Given the description of an element on the screen output the (x, y) to click on. 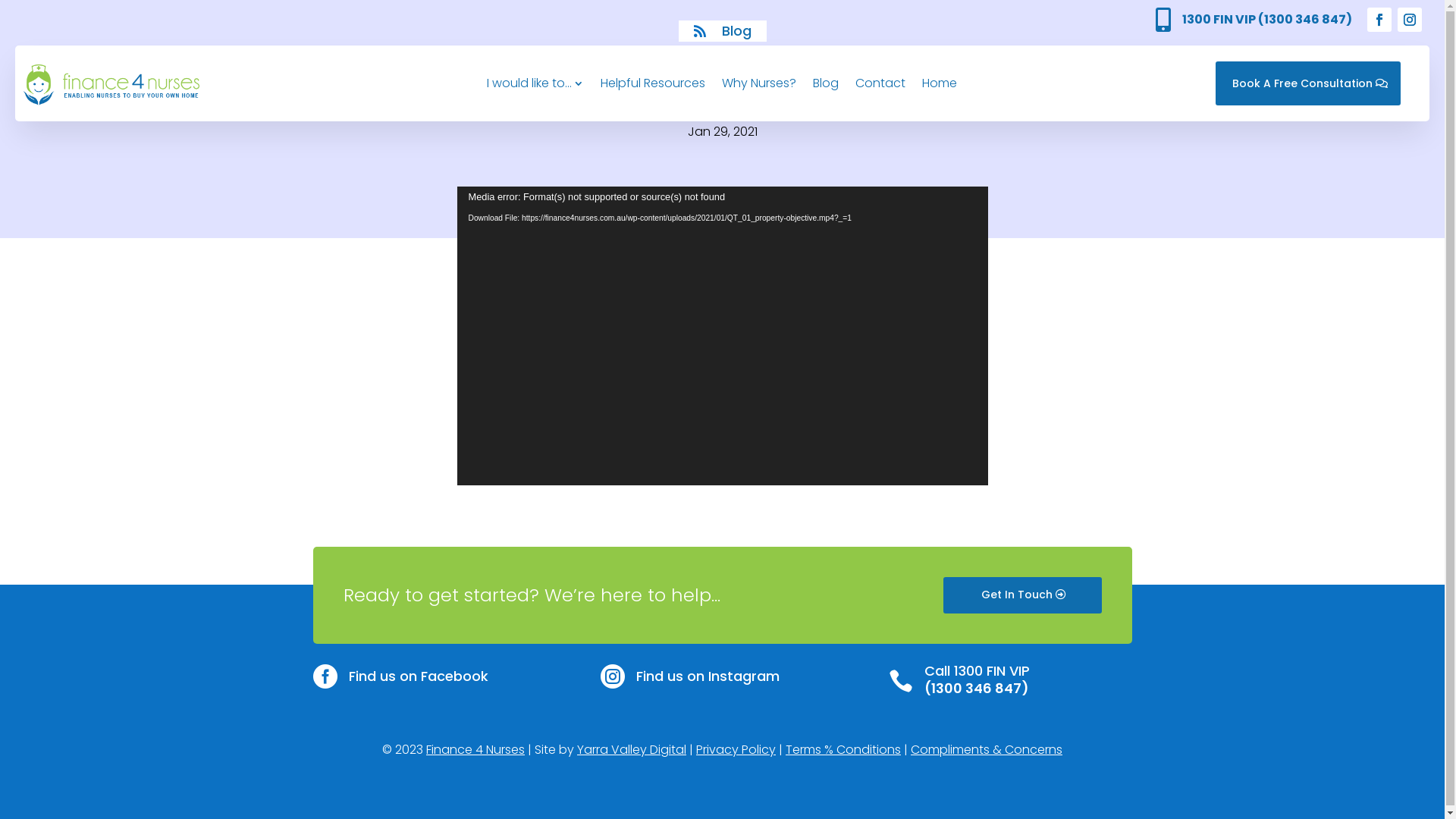
Book A Free Consultation Element type: text (1307, 83)
Blog Element type: text (825, 83)
Terms % Conditions Element type: text (842, 749)
Finance 4 Nurses Element type: text (475, 749)
Follow on Facebook Element type: hover (1379, 19)
Follow on Instagram Element type: hover (1409, 19)
Home Element type: text (939, 83)
Find us on Instagram Element type: text (707, 675)
Helpful Resources Element type: text (652, 83)
Privacy Policy Element type: text (735, 749)
Why Nurses? Element type: text (758, 83)
Call 1300 FIN VIP Element type: text (976, 670)
Get In Touch Element type: text (1022, 595)
Yarra Valley Digital Element type: text (631, 749)
Find us on Facebook Element type: text (418, 675)
finance4nurses-logo-wide Element type: hover (110, 83)
Contact Element type: text (880, 83)
Compliments & Concerns Element type: text (986, 749)
